Given the description of an element on the screen output the (x, y) to click on. 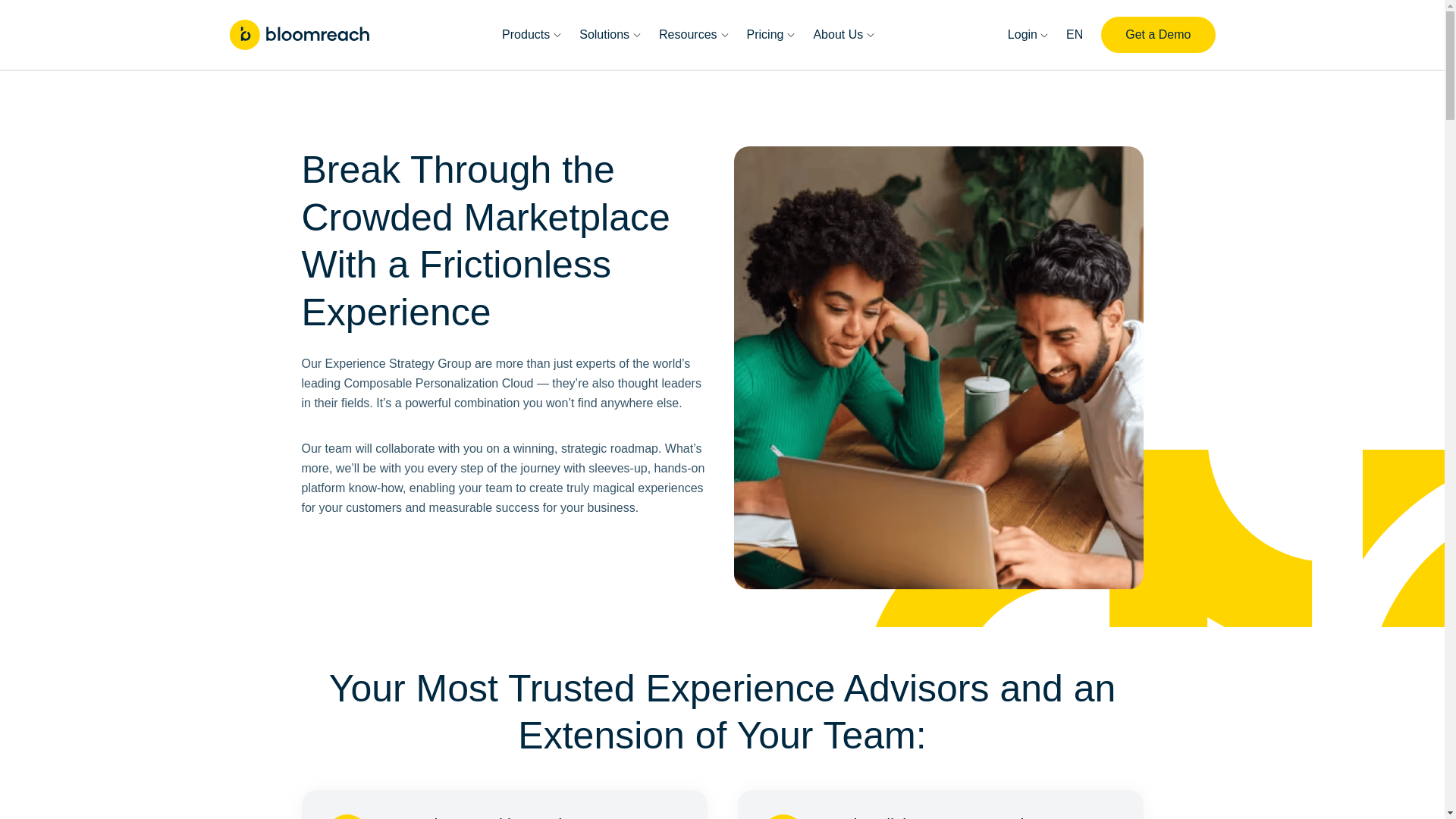
EN (1074, 35)
